Given the description of an element on the screen output the (x, y) to click on. 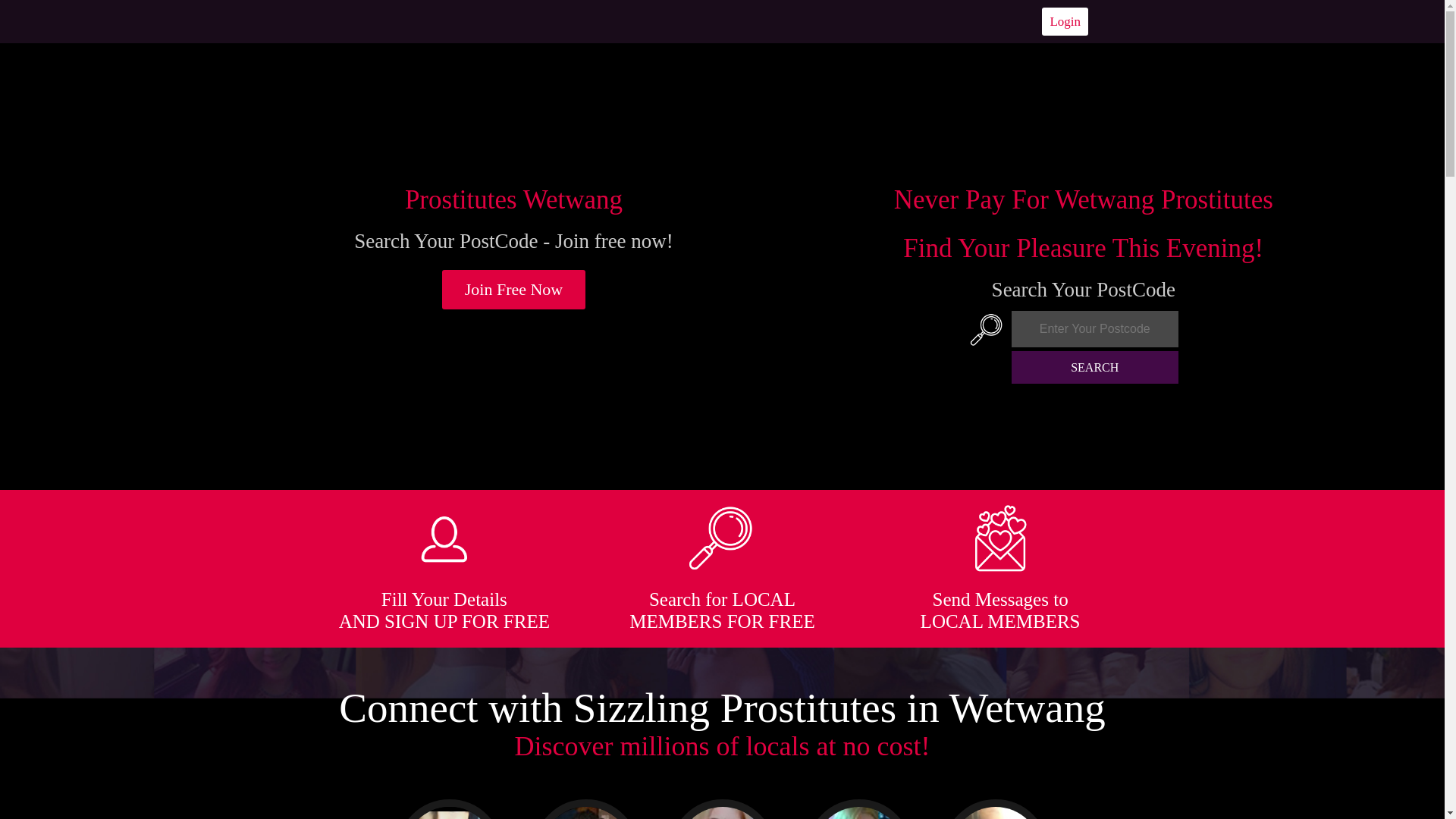
Join Free Now (514, 289)
Join (514, 289)
SEARCH (1094, 367)
Login (1064, 21)
Login (1064, 21)
